Given the description of an element on the screen output the (x, y) to click on. 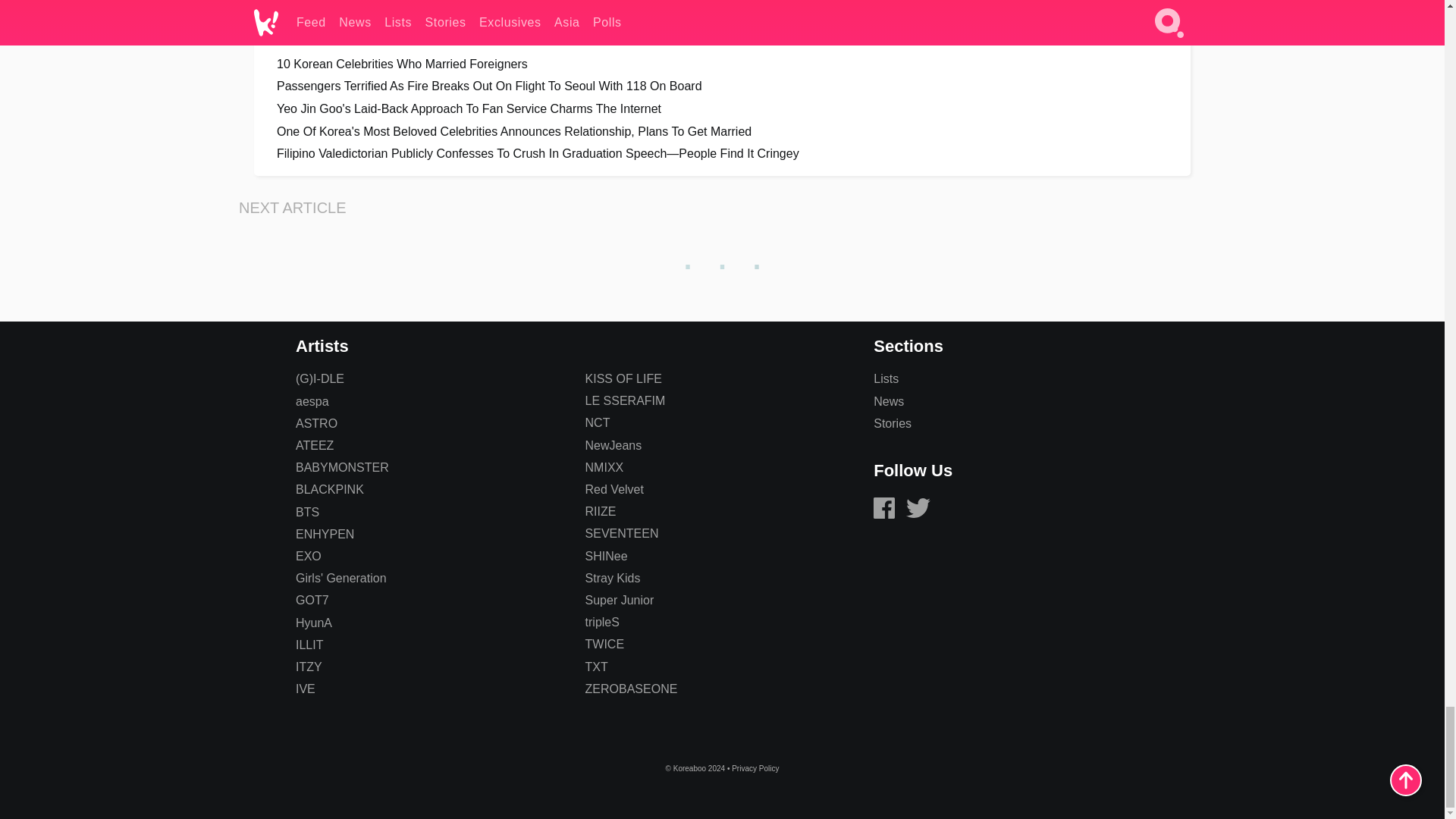
ATEEZ (314, 445)
HyunA (313, 622)
IVE (305, 688)
ITZY (308, 666)
ASTRO (316, 422)
ILLIT (309, 644)
EXO (308, 555)
10 Korean Celebrities Who Married Foreigners (721, 63)
BLACKPINK (329, 489)
KISS OF LIFE (623, 378)
BABYMONSTER (341, 467)
Red Velvet (614, 489)
NMIXX (604, 467)
